Given the description of an element on the screen output the (x, y) to click on. 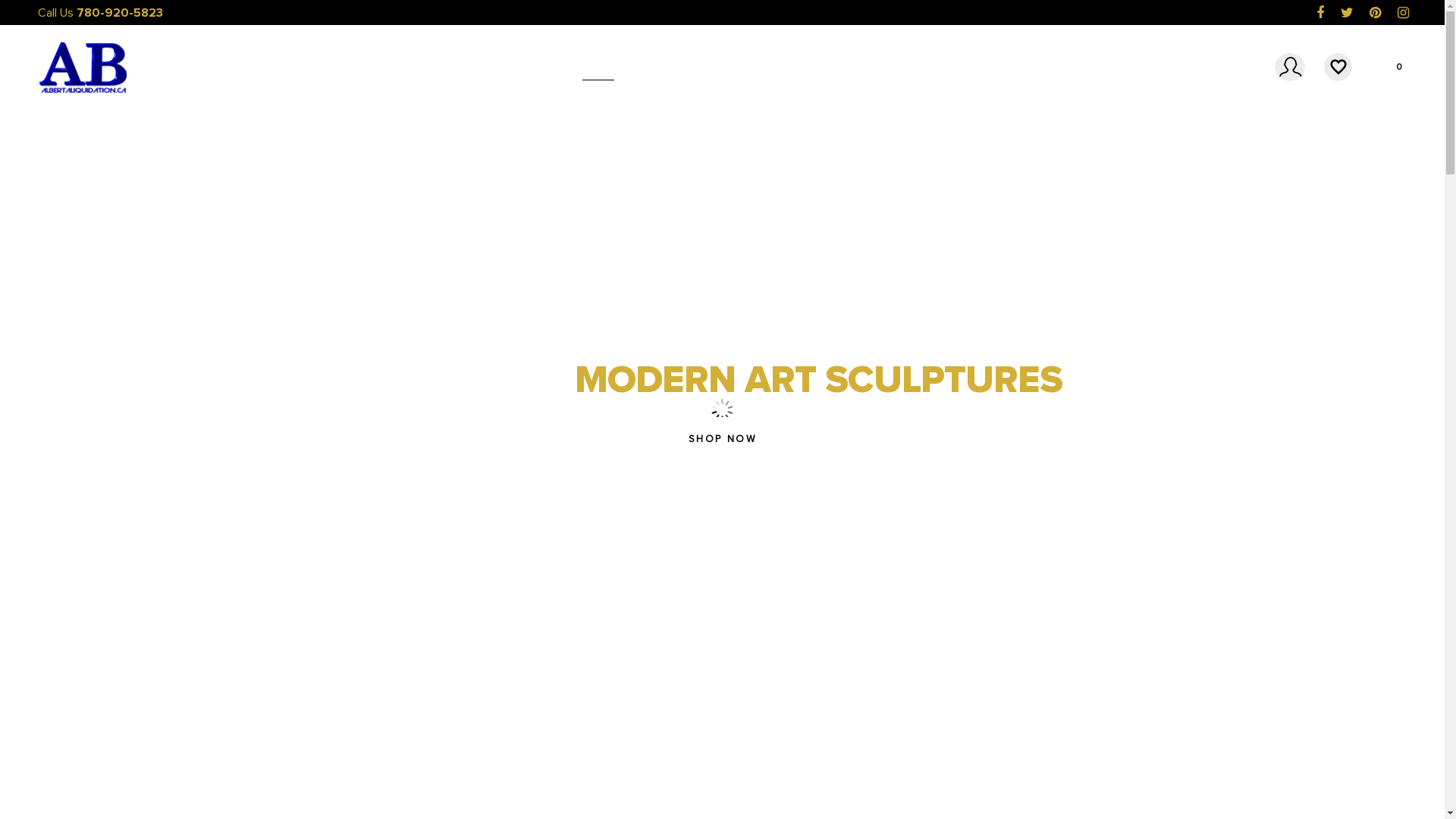
My Account Element type: hover (1286, 66)
Wishlist Element type: hover (1334, 66)
Shop Element type: text (721, 67)
Contact Us Element type: text (832, 67)
SHOP NOW Element type: text (722, 439)
Home Element type: text (598, 67)
About Us Element type: text (661, 67)
FAQ Element type: text (768, 67)
